Given the description of an element on the screen output the (x, y) to click on. 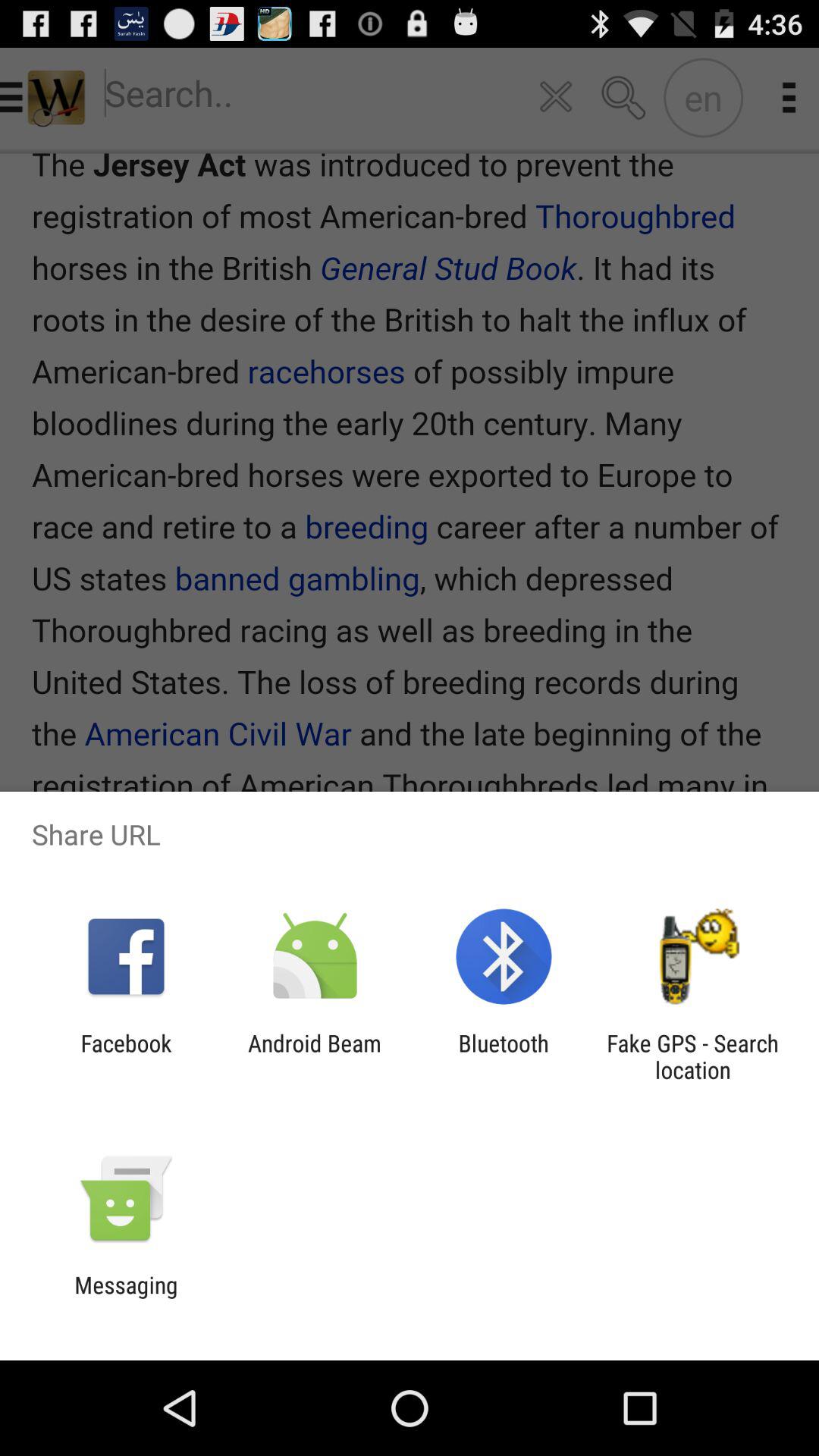
turn off item to the left of the fake gps search icon (503, 1056)
